Given the description of an element on the screen output the (x, y) to click on. 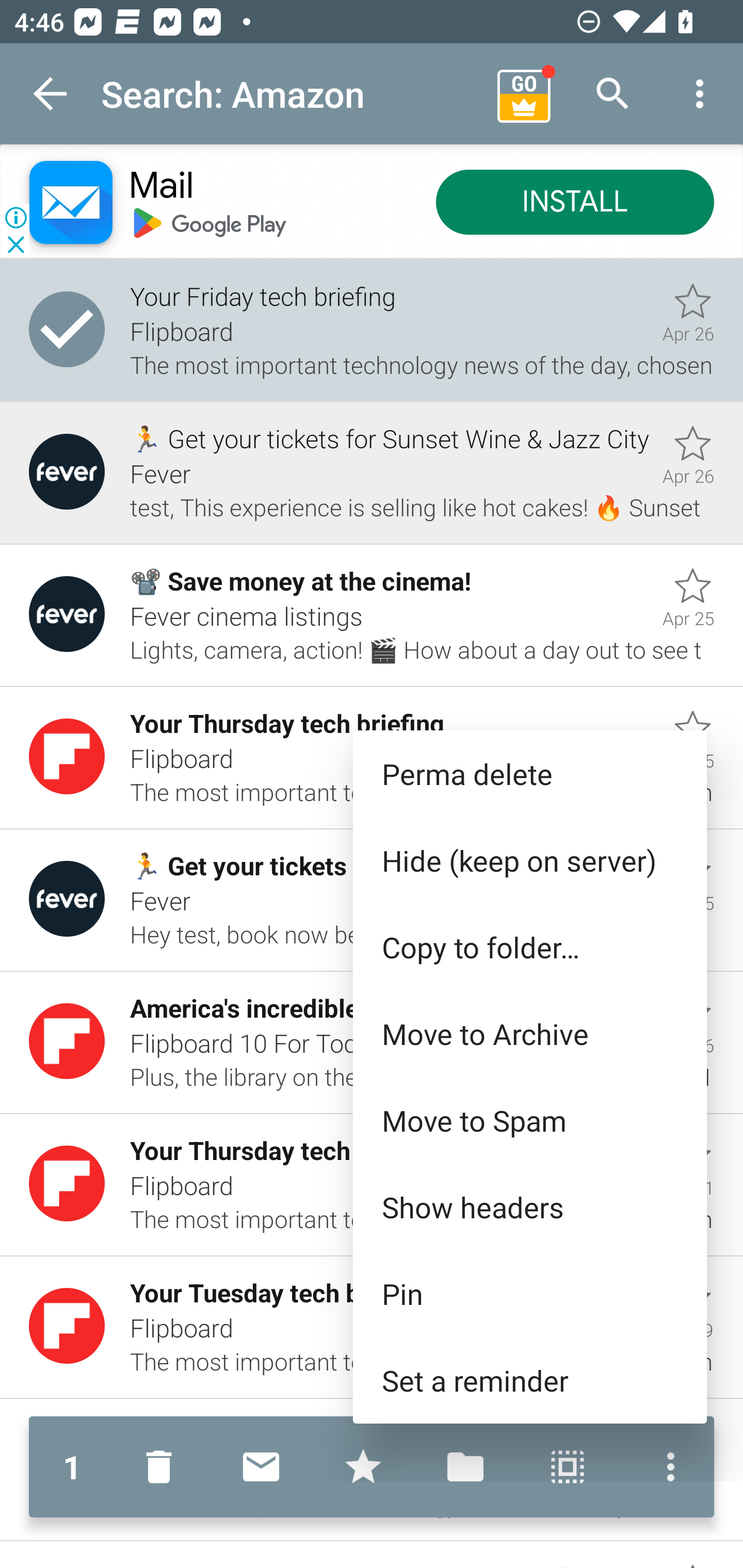
Perma delete (529, 773)
Hide (keep on server) (529, 859)
Copy to folder… (529, 946)
Move to Archive (529, 1033)
Move to Spam (529, 1120)
Show headers (529, 1206)
Pin (529, 1293)
Set a reminder (529, 1380)
